Given the description of an element on the screen output the (x, y) to click on. 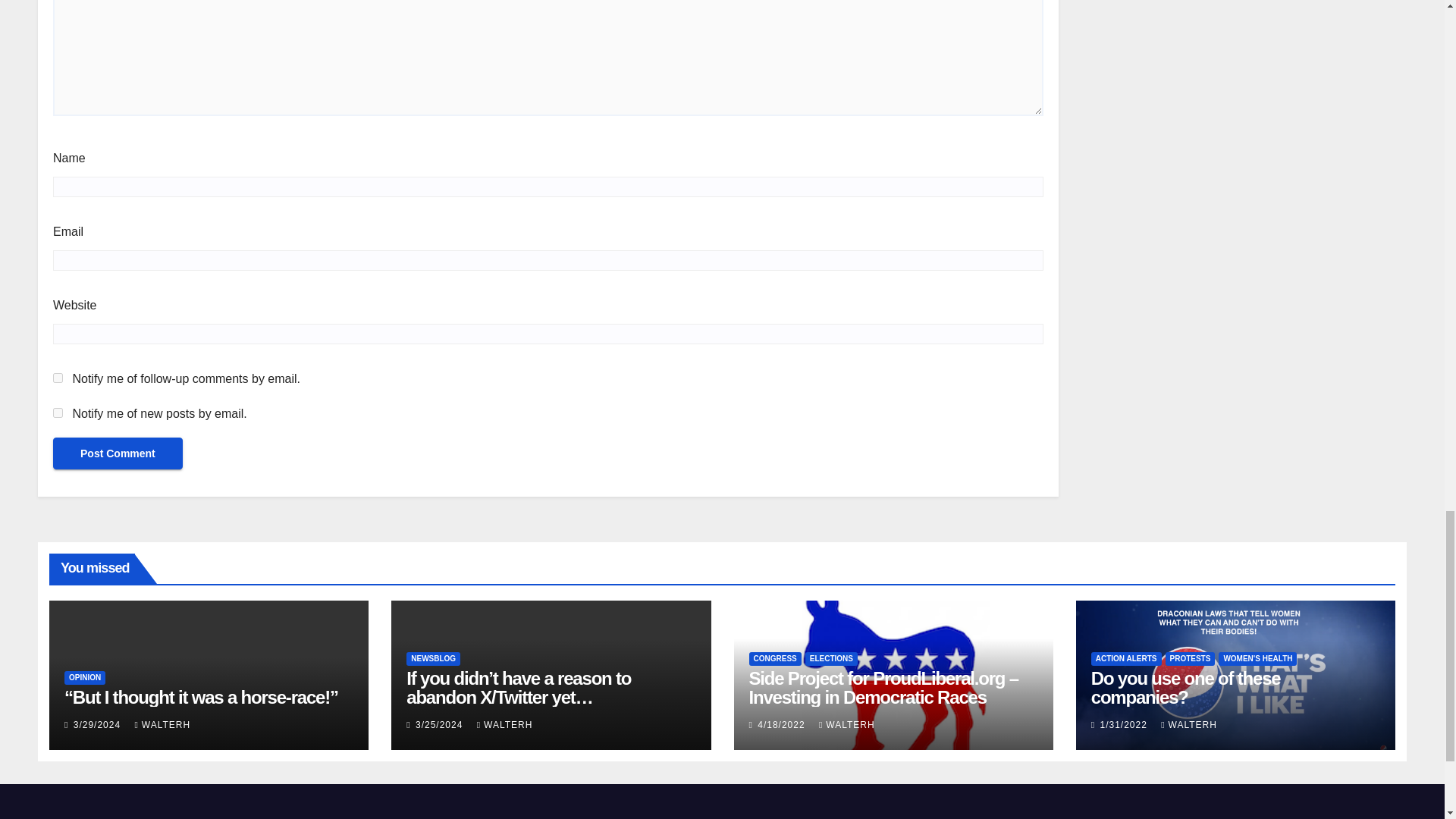
Post Comment (117, 453)
subscribe (57, 378)
subscribe (57, 412)
